Given the description of an element on the screen output the (x, y) to click on. 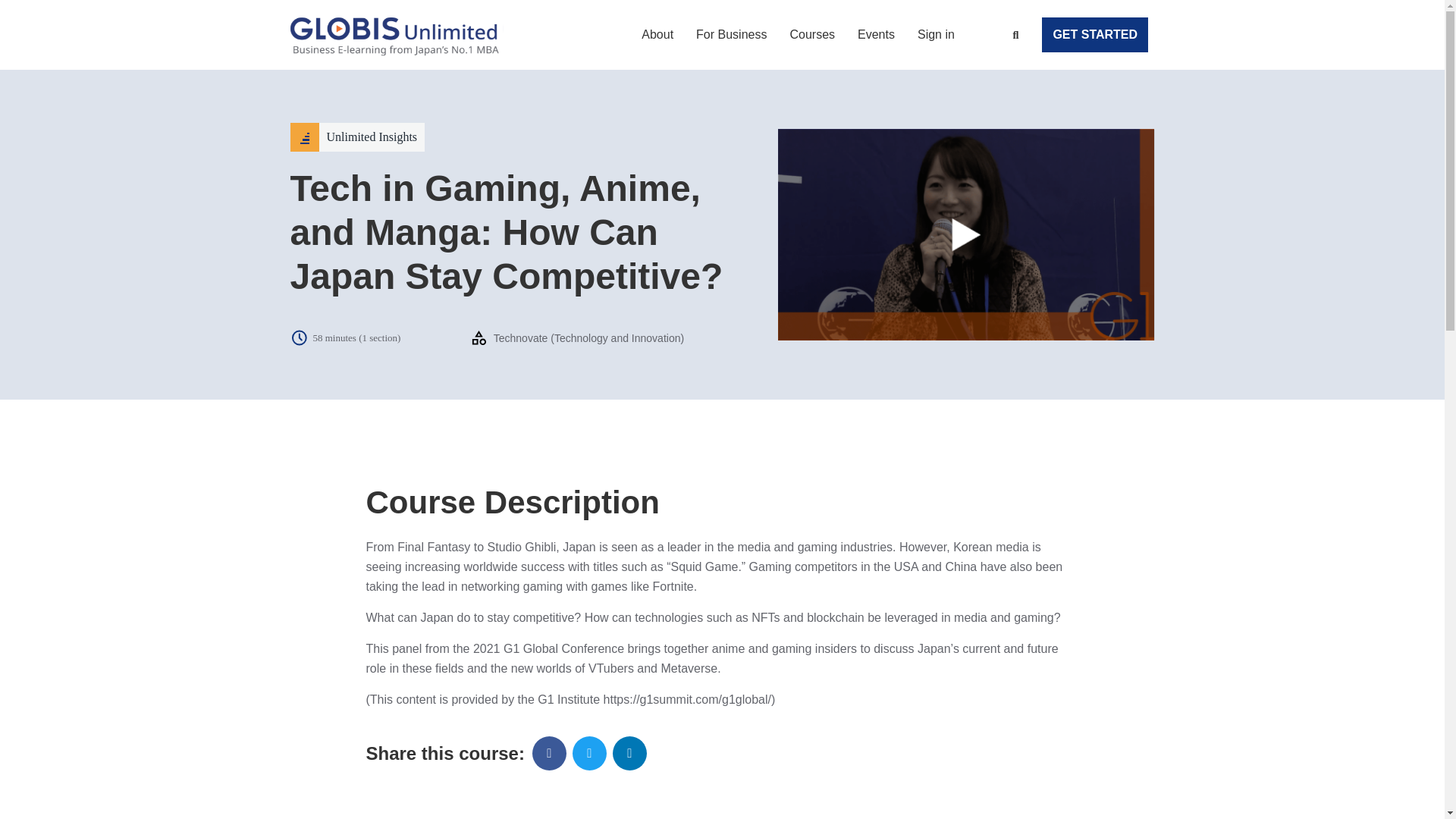
GET STARTED (1095, 34)
Events (876, 34)
Courses (811, 34)
For Business (731, 34)
Sign in (936, 34)
